Given the description of an element on the screen output the (x, y) to click on. 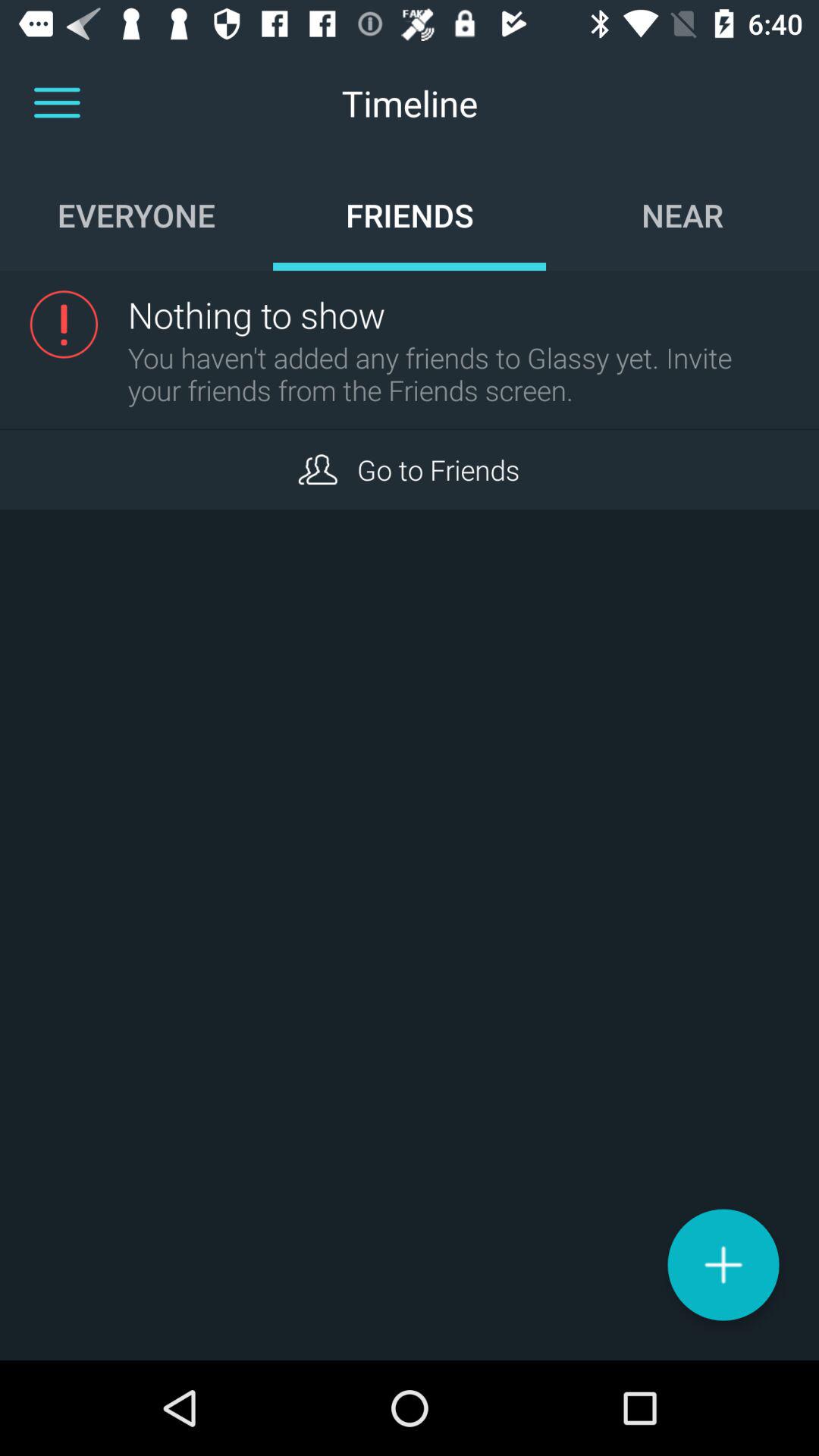
view different sections (57, 103)
